Given the description of an element on the screen output the (x, y) to click on. 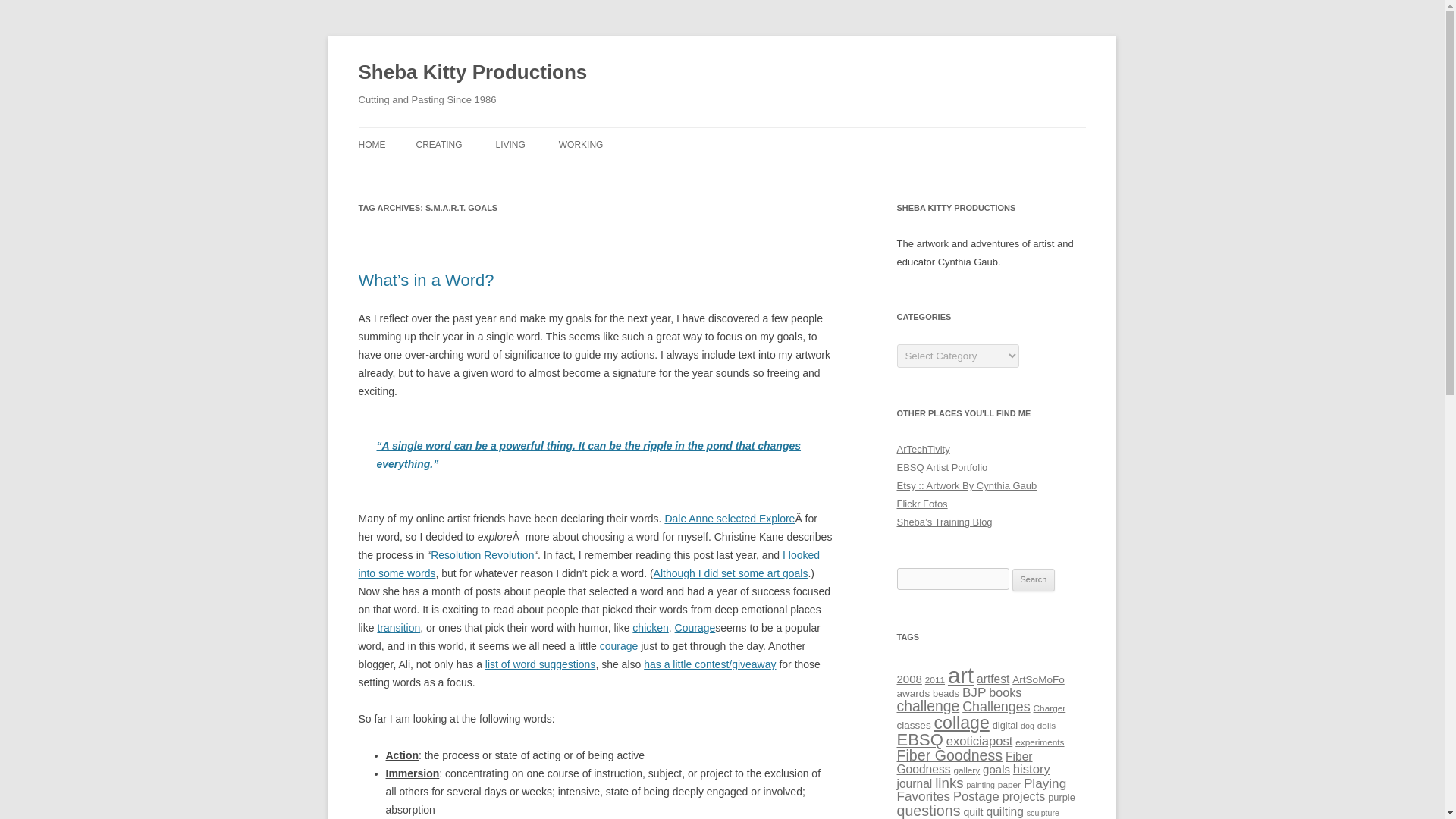
WORKING (581, 144)
Sheba Kitty Productions (472, 72)
My Etsy Shop (966, 485)
Sheba Kitty Productions (472, 72)
LIVING (509, 144)
I looked into some words (588, 563)
CREATING (437, 144)
Resolution Revolution (482, 554)
Search (1033, 579)
ARTISTAMPS (490, 176)
transition (398, 627)
courage (619, 645)
Dale Anne selected Explore (728, 518)
